Given the description of an element on the screen output the (x, y) to click on. 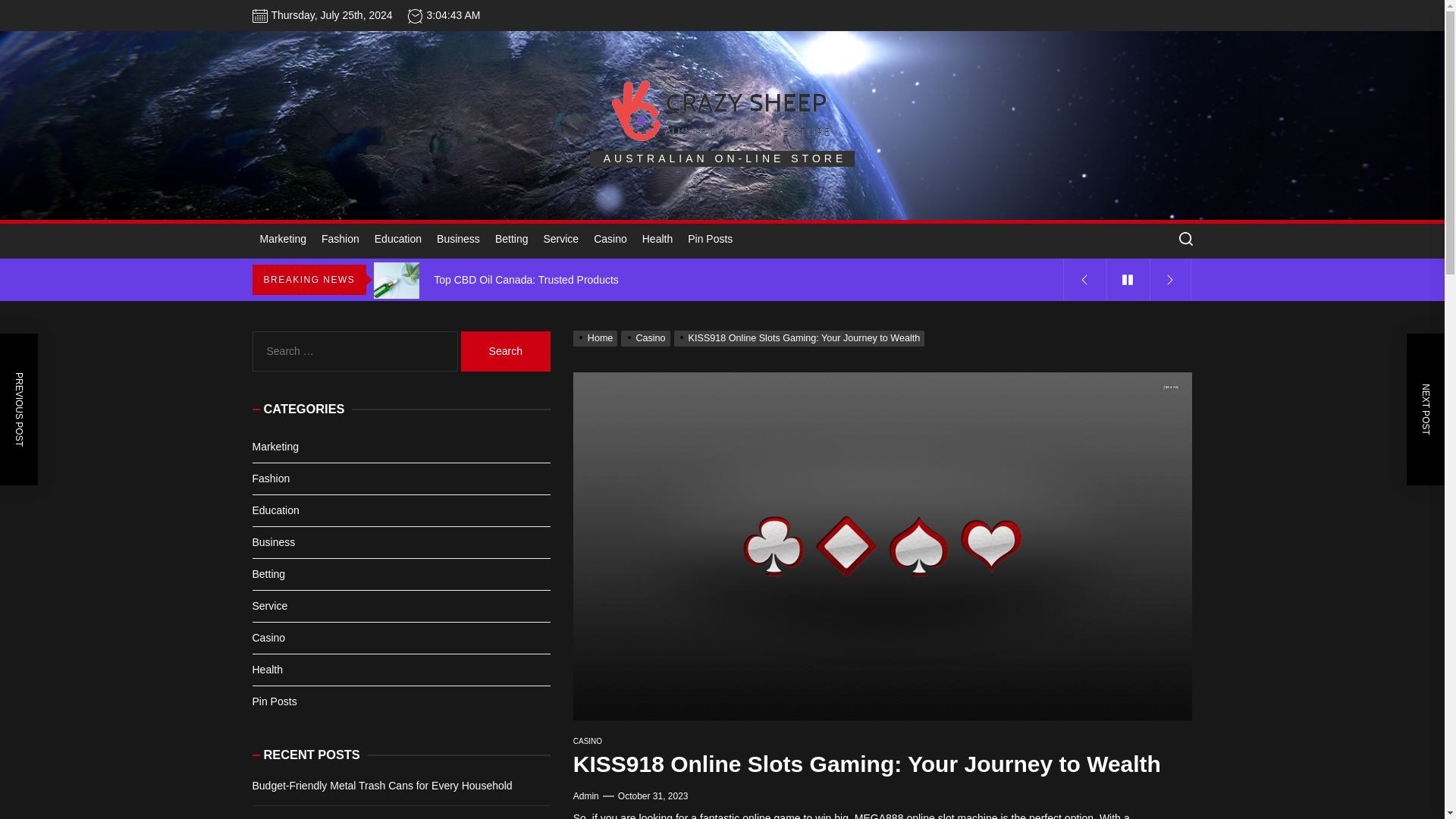
Top CBD Oil Canada: Trusted Products (720, 279)
Discover the Top 12 Most Trusted Major Gambling Sites (720, 238)
Fashion (340, 239)
Service (560, 239)
Top CBD Oil Canada: Trusted Products (720, 279)
October 31, 2023 (652, 796)
Marketing (282, 239)
Business (458, 239)
Casino (646, 337)
Discover the Top 12 Most Trusted Major Gambling Sites (720, 238)
Health (656, 239)
Home (597, 337)
KISS918 Online Slots Gaming: Your Journey to Wealth (801, 337)
Admin (585, 796)
Casino (610, 239)
